Given the description of an element on the screen output the (x, y) to click on. 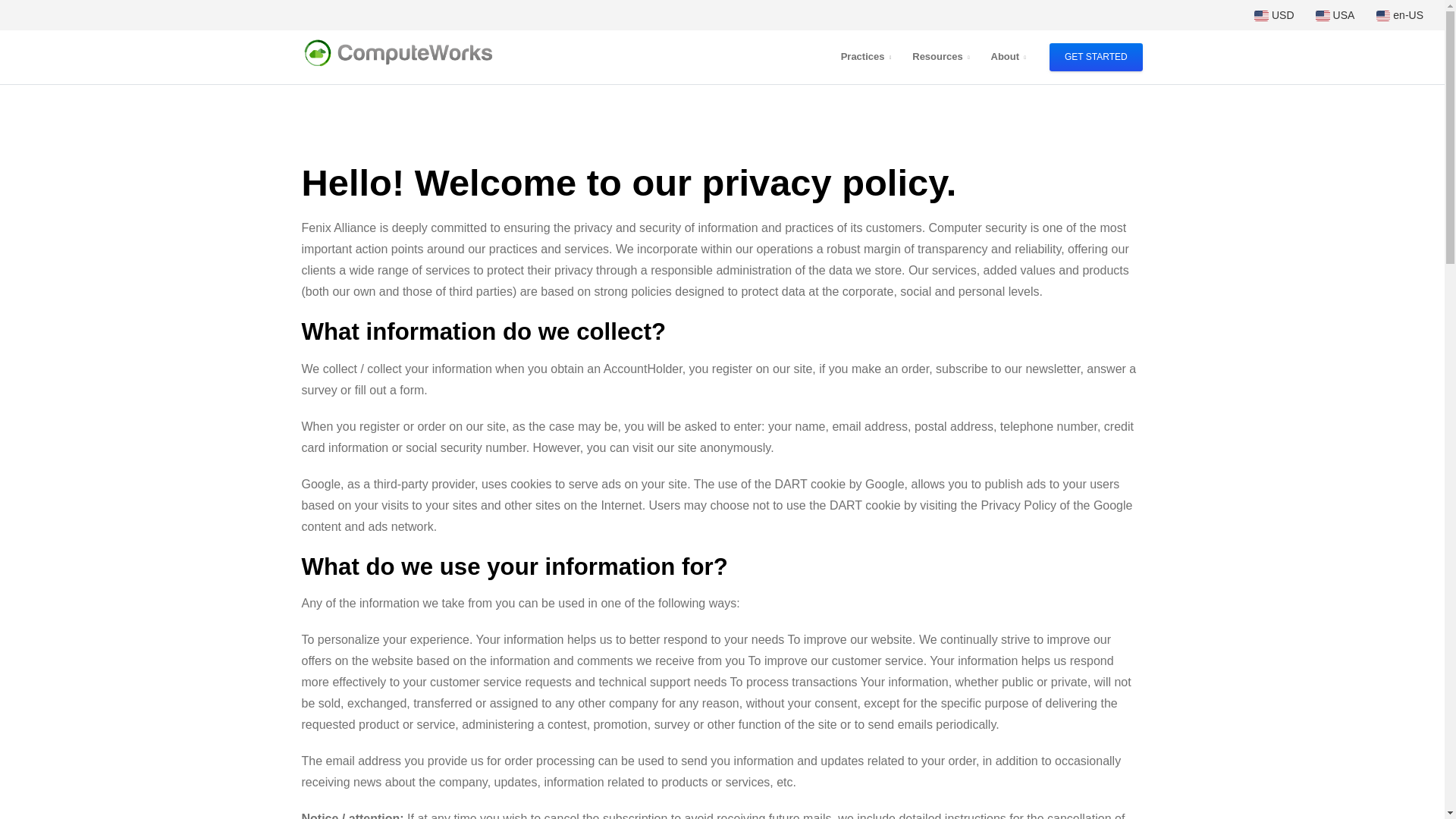
About (1007, 57)
USD (1273, 15)
Practices (865, 57)
USA (1333, 15)
en-US (1399, 15)
Resources (940, 57)
